Given the description of an element on the screen output the (x, y) to click on. 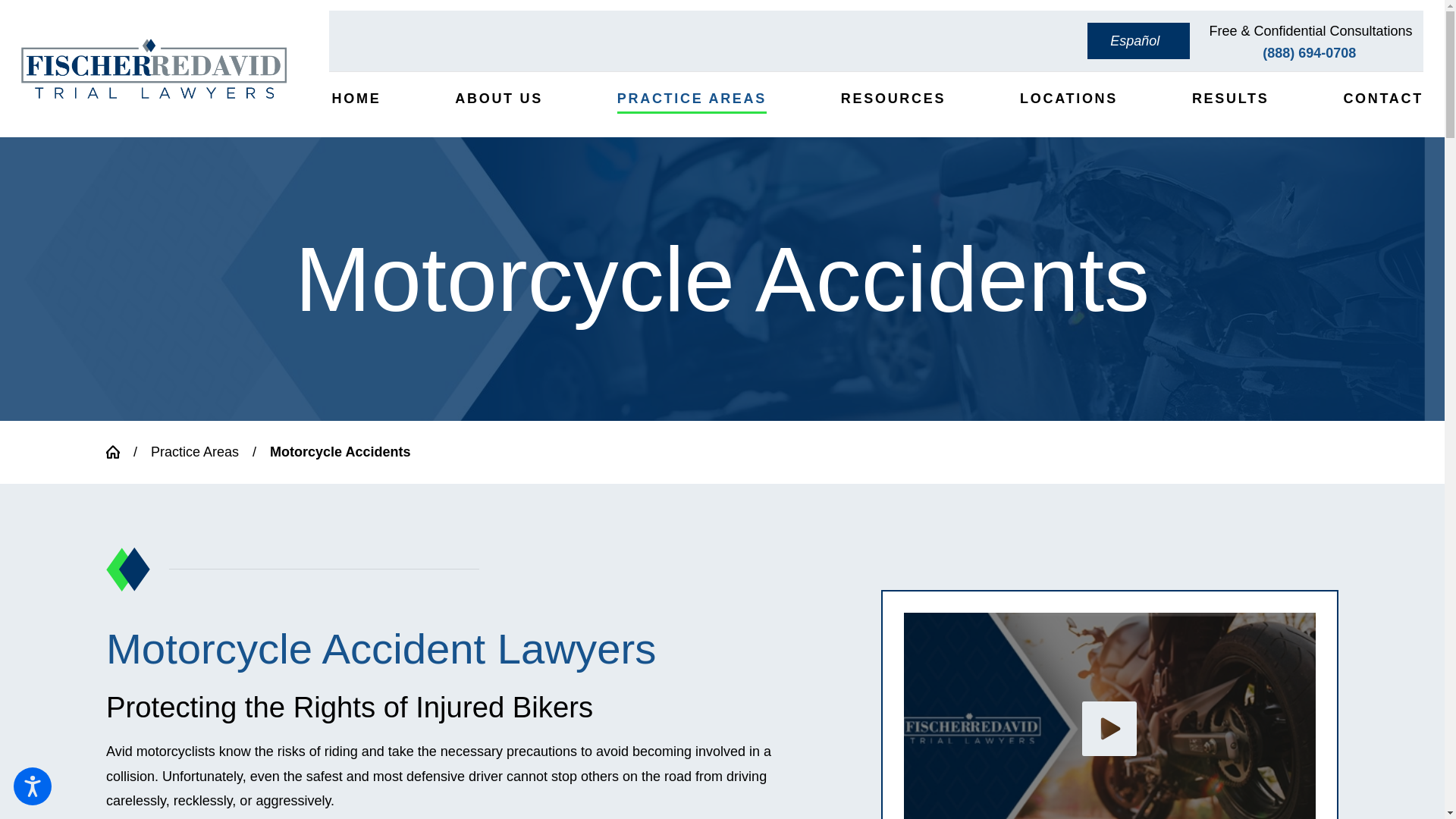
RESOURCES (891, 98)
Go Home (119, 451)
PRACTICE AREAS (690, 98)
LOCATIONS (1067, 98)
Motorcycle Injuries (1110, 715)
Fischer Redavid PLLC (153, 68)
Open the accessibility options menu (31, 786)
HOME (354, 98)
ABOUT US (497, 98)
